Given the description of an element on the screen output the (x, y) to click on. 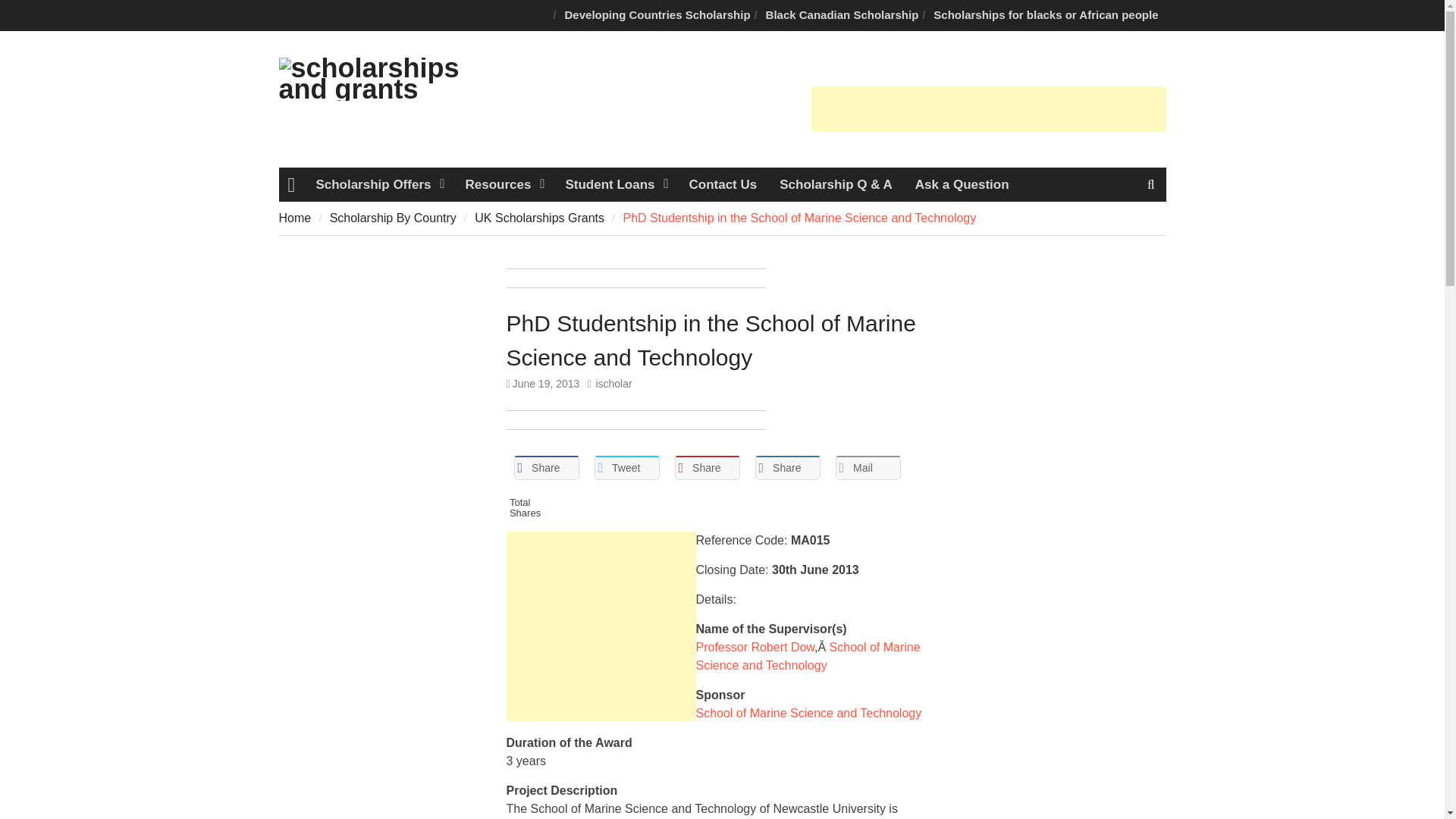
Developing Countries Scholarship (657, 15)
Black Canadian Scholarship (842, 15)
Share it on Email (868, 467)
Scholarships for blacks or African people (1046, 15)
Student Loans (615, 184)
Share on Pinterest (707, 467)
Scholarship Offers (378, 184)
Share on Facebook (546, 467)
Share on LinkedIn (788, 467)
Share on Twitter (626, 467)
